Given the description of an element on the screen output the (x, y) to click on. 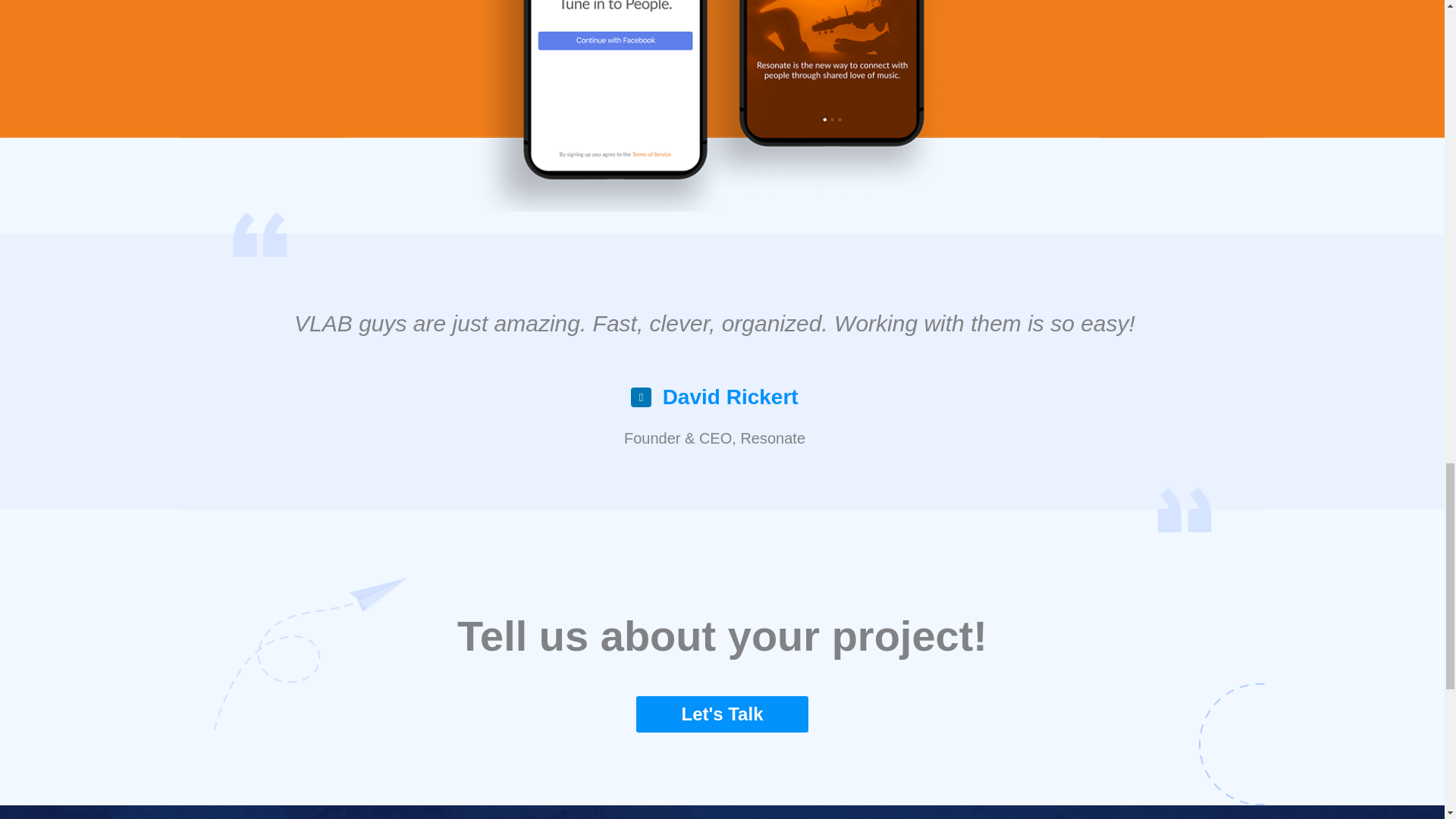
Let's Talk (722, 714)
David Rickert (729, 396)
